Given the description of an element on the screen output the (x, y) to click on. 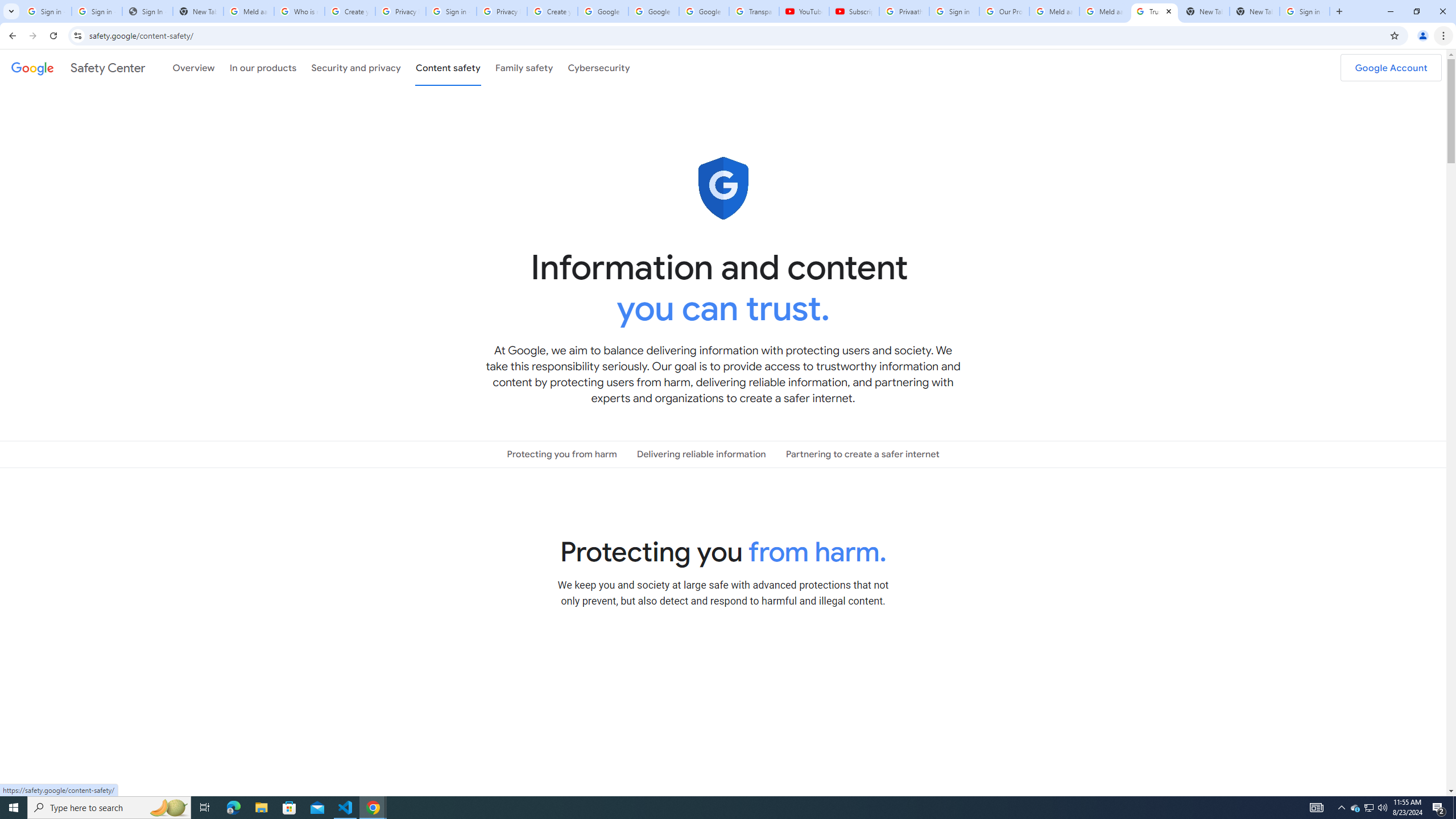
Google Account (703, 11)
Protecting you from harm (561, 454)
Prevent (723, 698)
Content safety (447, 67)
New Tab (1254, 11)
Sign in - Google Accounts (97, 11)
Create your Google Account (552, 11)
